Given the description of an element on the screen output the (x, y) to click on. 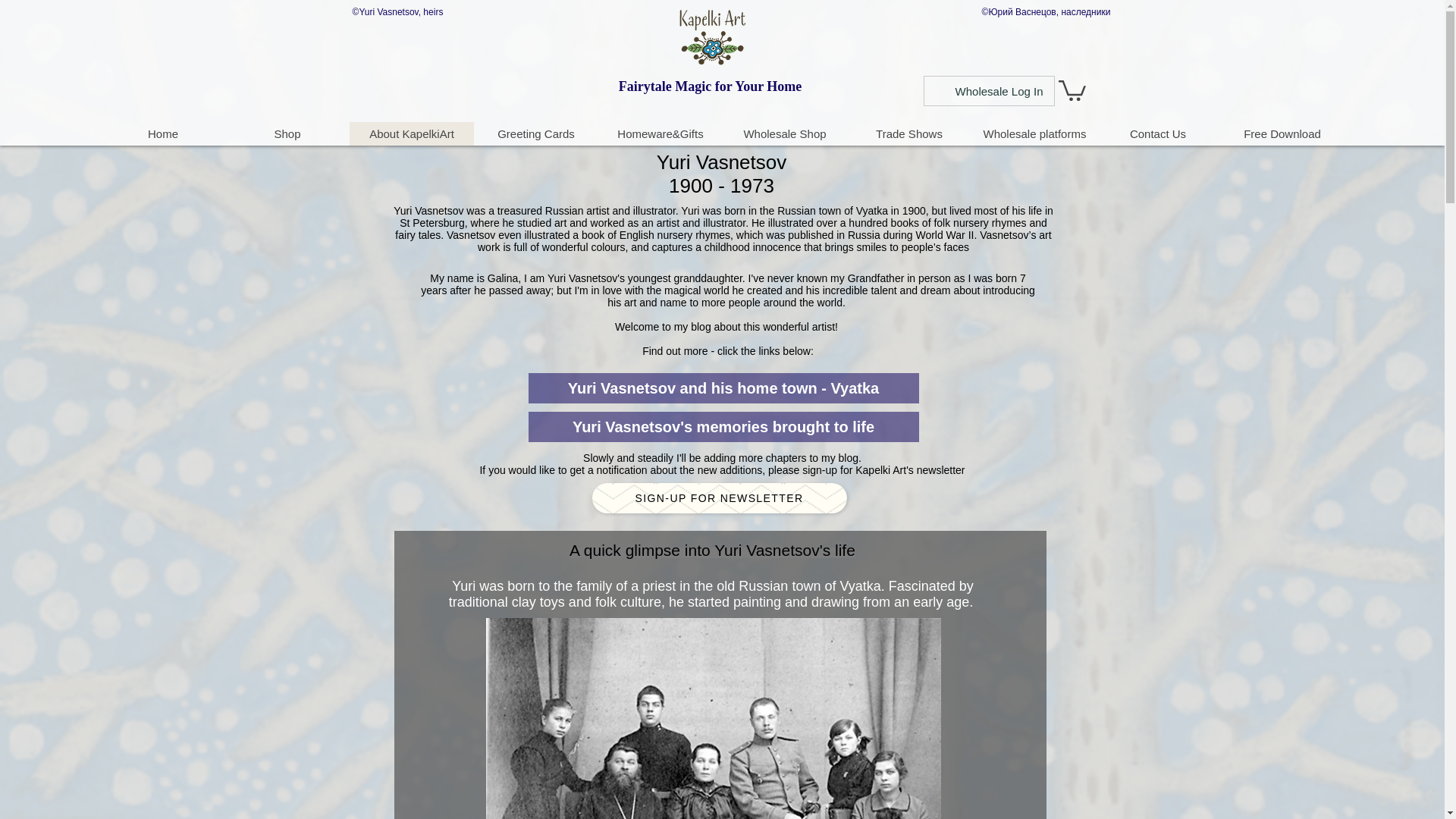
Yuri Vasnetsov's memories brought to life (722, 426)
About KapelkiArt (411, 133)
Wholesale platforms (1032, 133)
Free Download (1281, 133)
Yuri Vasnetsov and his home town - Vyatka (722, 388)
Home (162, 133)
Wholesale Log In (999, 91)
Wholesale Shop (783, 133)
Greeting Cards (534, 133)
Shop (286, 133)
Contact Us (1157, 133)
Trade Shows (908, 133)
SIGN-UP FOR NEWSLETTER (718, 498)
